Given the description of an element on the screen output the (x, y) to click on. 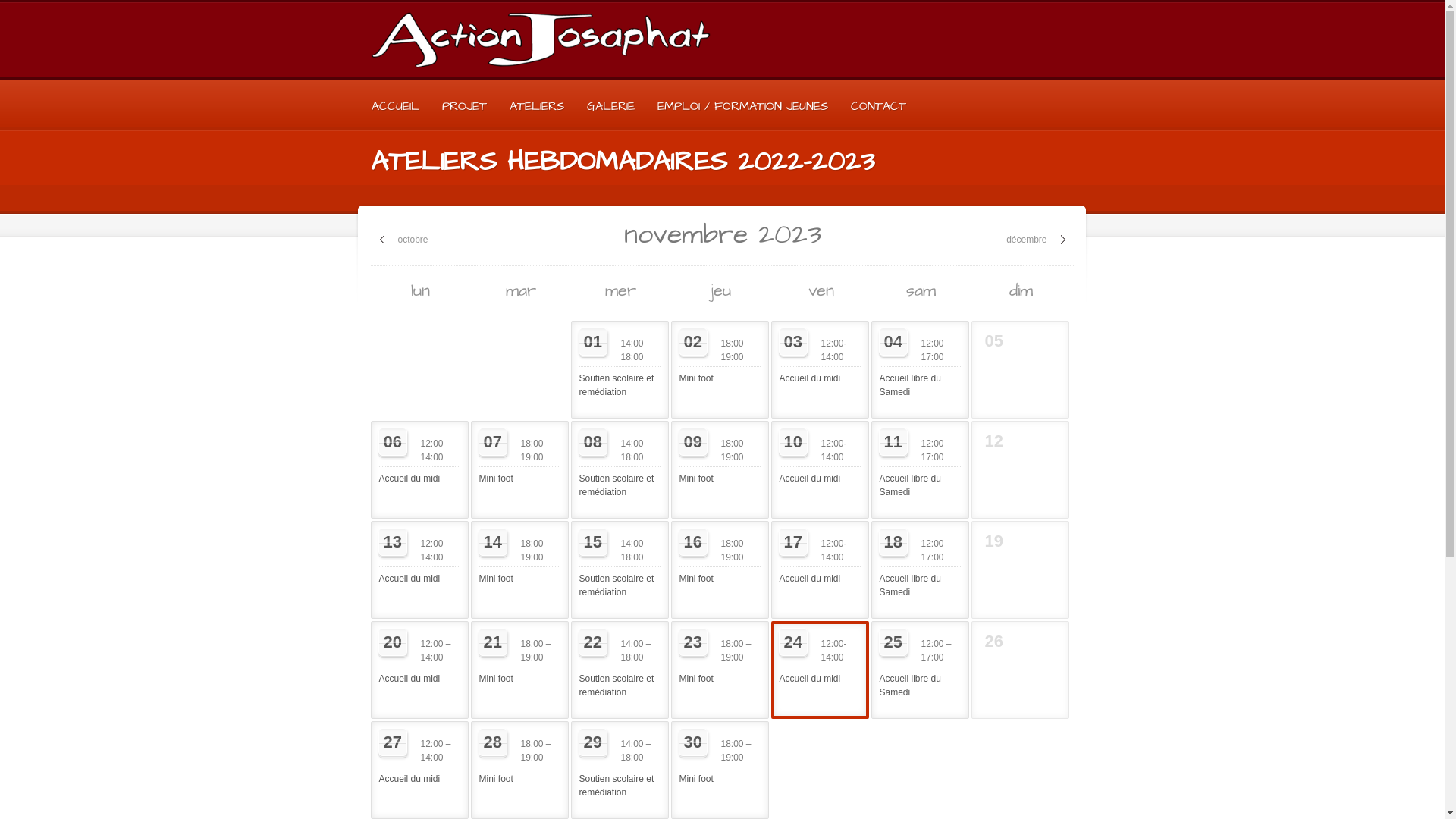
ACCUEIL Element type: text (394, 105)
12:00-14:00
Accueil du midi Element type: text (819, 556)
12:00-14:00
Accueil du midi Element type: text (819, 456)
ATELIERS Element type: text (535, 105)
EMPLOI / FORMATION JEUNES Element type: text (742, 105)
octobre Element type: text (403, 239)
12:00-14:00
Accueil du midi Element type: text (819, 656)
GALERIE Element type: text (609, 105)
12:00-14:00
Accueil du midi Element type: text (819, 356)
CONTACT Element type: text (877, 105)
PROJET Element type: text (464, 105)
